Given the description of an element on the screen output the (x, y) to click on. 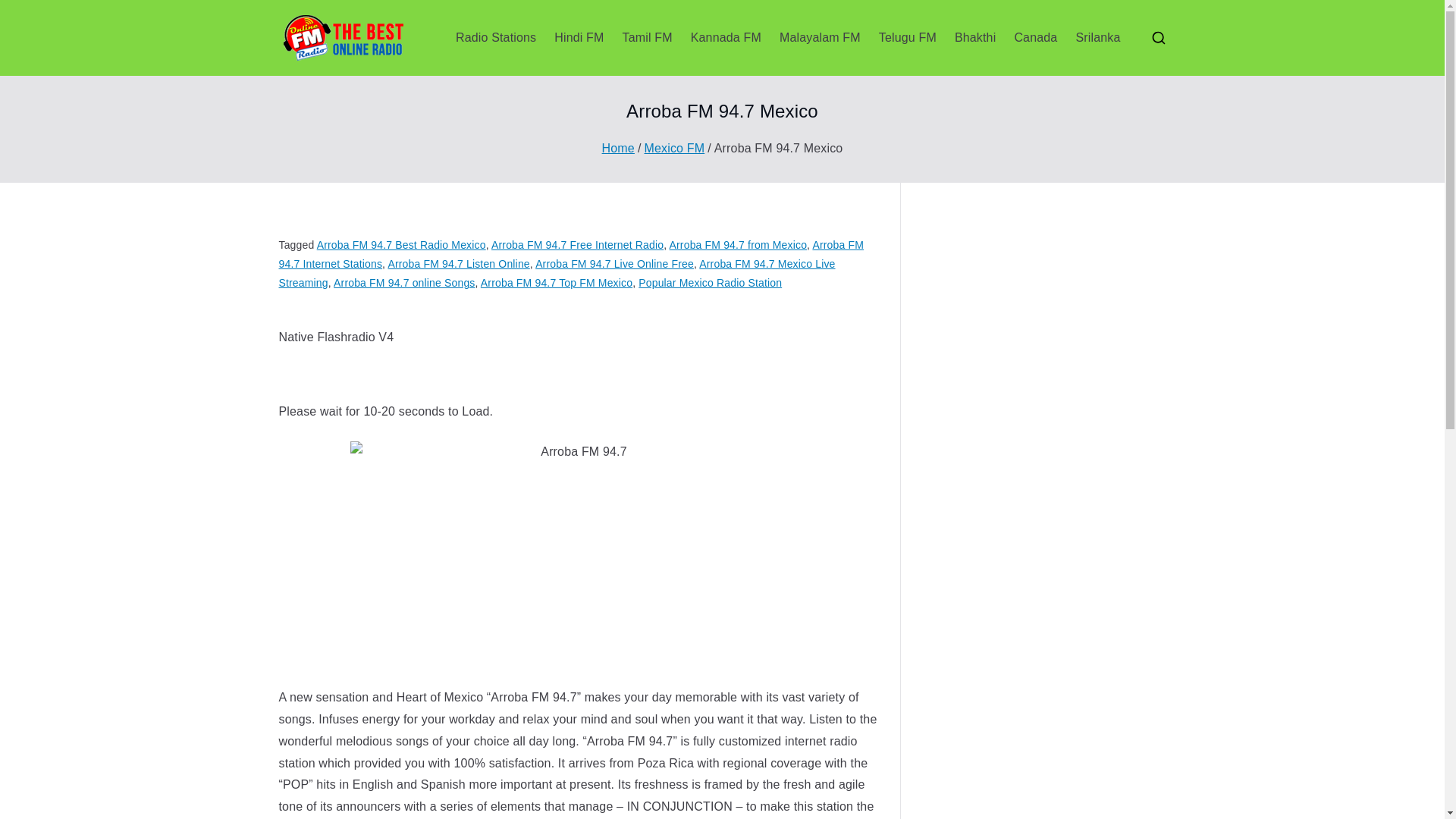
Kannada FM (725, 38)
Mexico FM (674, 147)
Arroba FM 94.7 Top FM Mexico (555, 282)
Hindi FM (579, 38)
Radio Stations (495, 38)
Telugu FM (907, 38)
Search (26, 12)
Arroba FM 94.7 Free Internet Radio (577, 244)
Tamil FM (647, 38)
Arroba FM 94.7 Best Radio Mexico (401, 244)
